Given the description of an element on the screen output the (x, y) to click on. 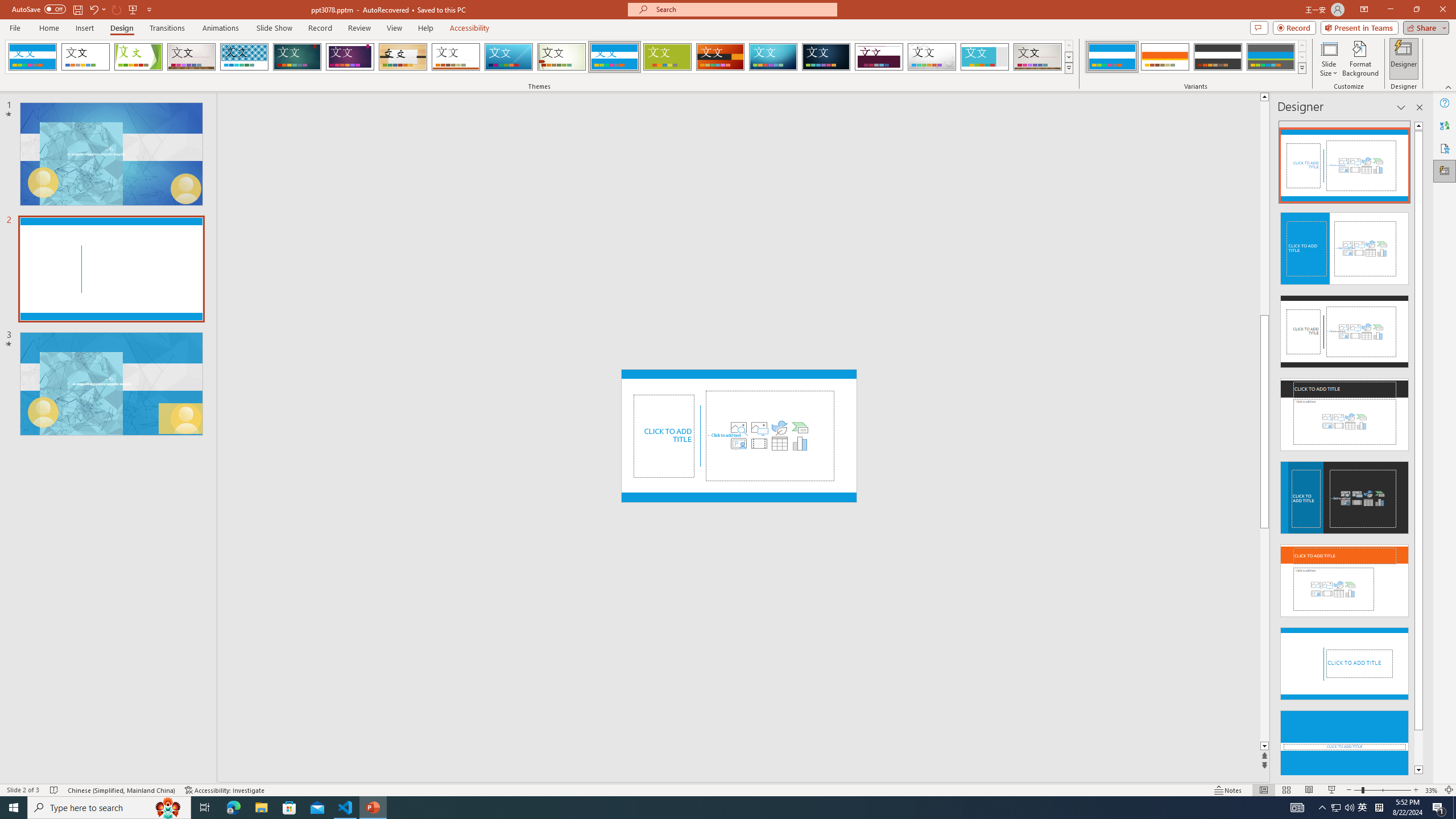
Translator (1444, 125)
Recommended Design: Design Idea (1344, 161)
Gallery (1037, 56)
Line down (1264, 746)
Banded Variant 2 (1164, 56)
Themes (1068, 67)
